Given the description of an element on the screen output the (x, y) to click on. 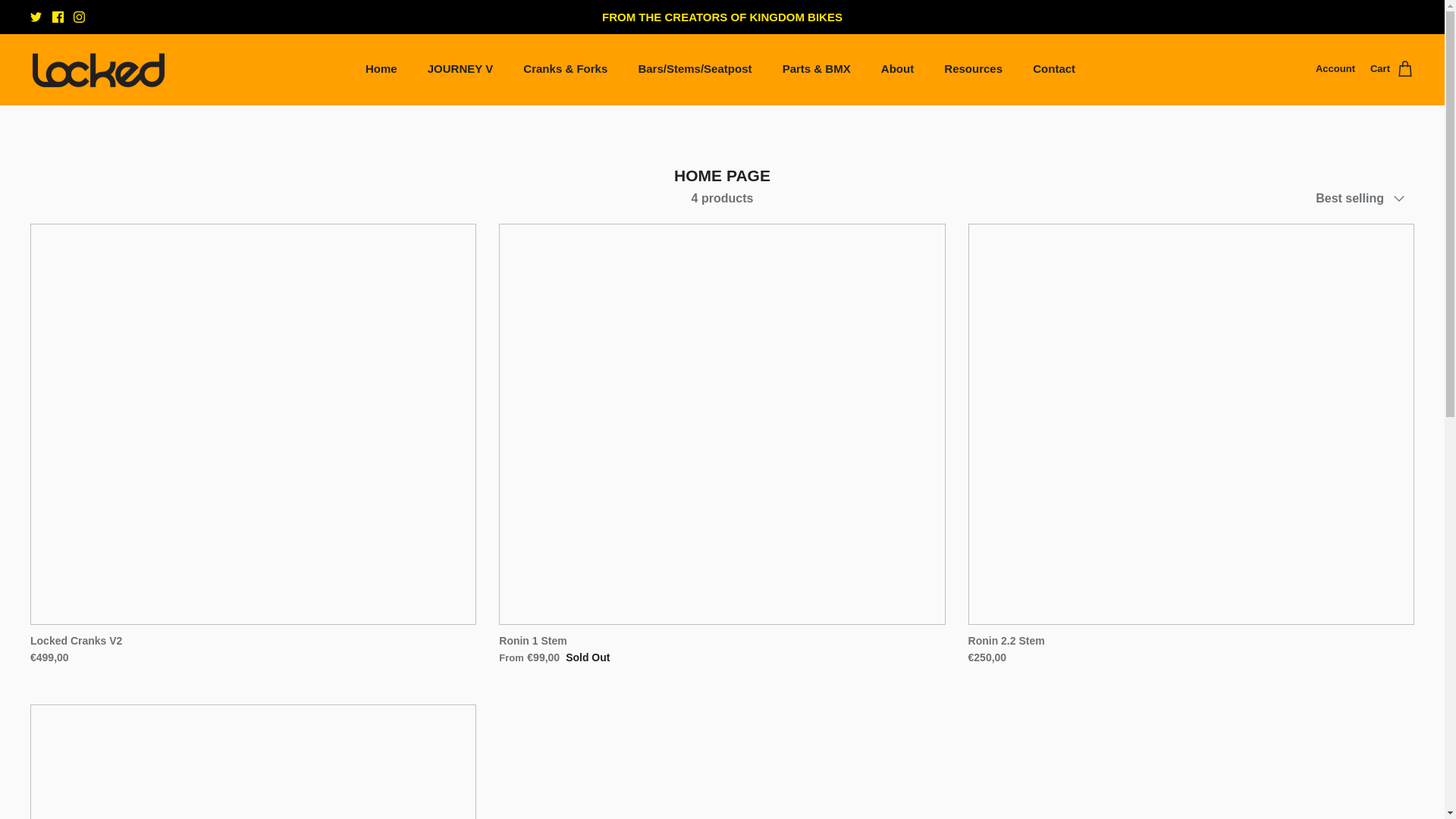
Account (1335, 68)
Instagram (79, 16)
JOURNEY V (459, 69)
Resources (973, 69)
About (897, 69)
Contact (1054, 69)
Facebook (58, 16)
Twitter (36, 16)
Twitter (36, 16)
Home (381, 69)
Instagram (79, 16)
Locked Components (98, 69)
Cart (1391, 68)
Facebook (58, 16)
